Given the description of an element on the screen output the (x, y) to click on. 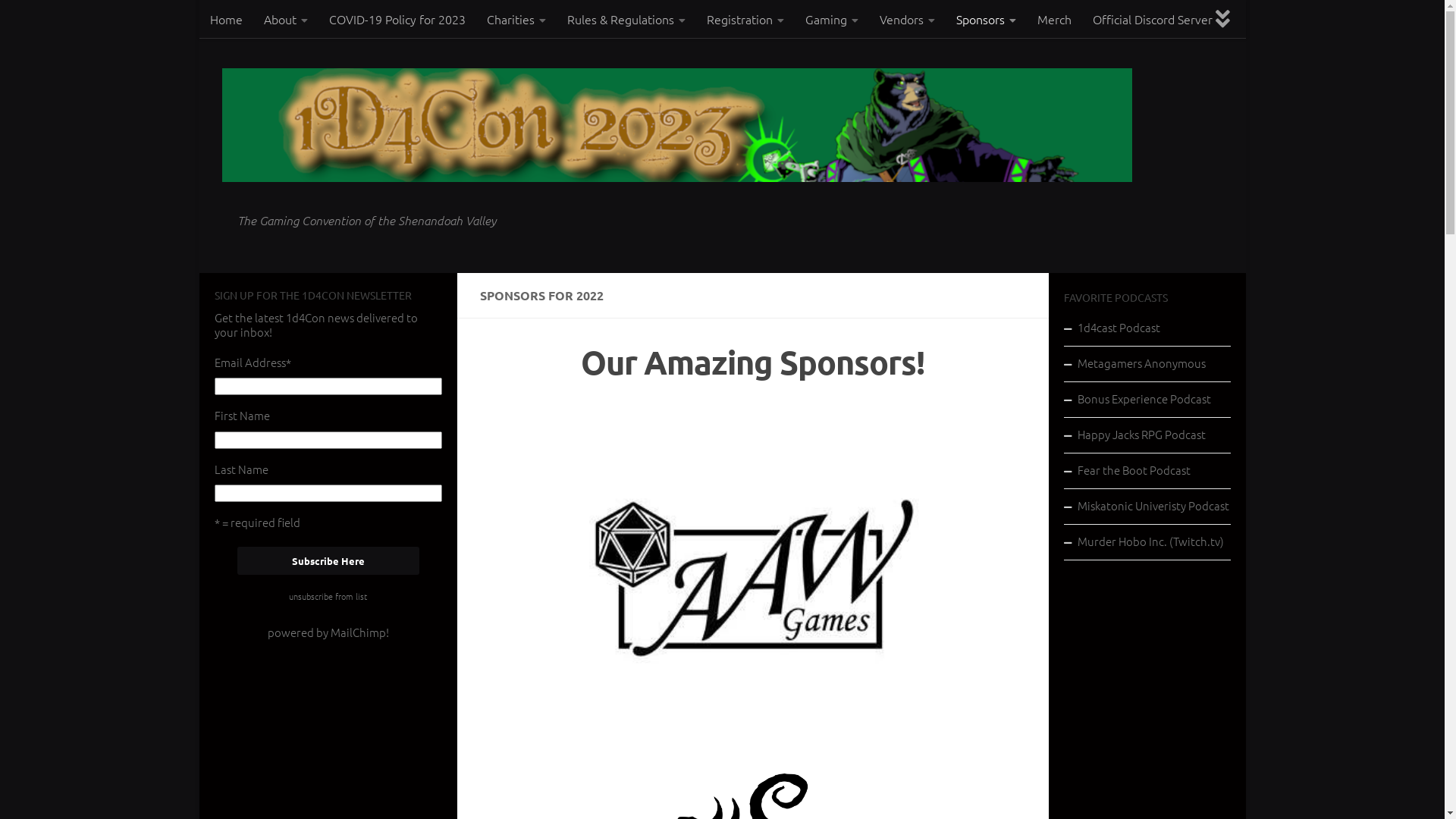
Registration Element type: text (745, 19)
Subscribe Here Element type: text (327, 560)
Bonus Experience Podcast Element type: text (1146, 399)
Skip to content Element type: text (263, 21)
Merch Element type: text (1054, 18)
MailChimp Element type: text (357, 632)
Charities Element type: text (516, 19)
COVID-19 Policy for 2023 Element type: text (397, 18)
unsubscribe from list Element type: text (327, 595)
Fear the Boot Podcast Element type: text (1146, 471)
About Element type: text (285, 19)
Home Element type: text (225, 18)
Miskatonic Univeristy Podcast Element type: text (1146, 506)
1d4Con | In-Person Event (May 5-7, 2023) | Home page Element type: hover (676, 125)
Vendors Element type: text (907, 19)
Sponsors Element type: text (985, 19)
Metagamers Anonymous Element type: text (1146, 364)
Expand menu Element type: hover (1222, 18)
Official Discord Server Element type: text (1151, 18)
Gaming Element type: text (831, 19)
Happy Jacks RPG Podcast Element type: text (1146, 435)
Rules & Regulations Element type: text (626, 19)
Murder Hobo Inc. (Twitch.tv) Element type: text (1146, 542)
1d4cast Podcast Element type: text (1146, 328)
